Given the description of an element on the screen output the (x, y) to click on. 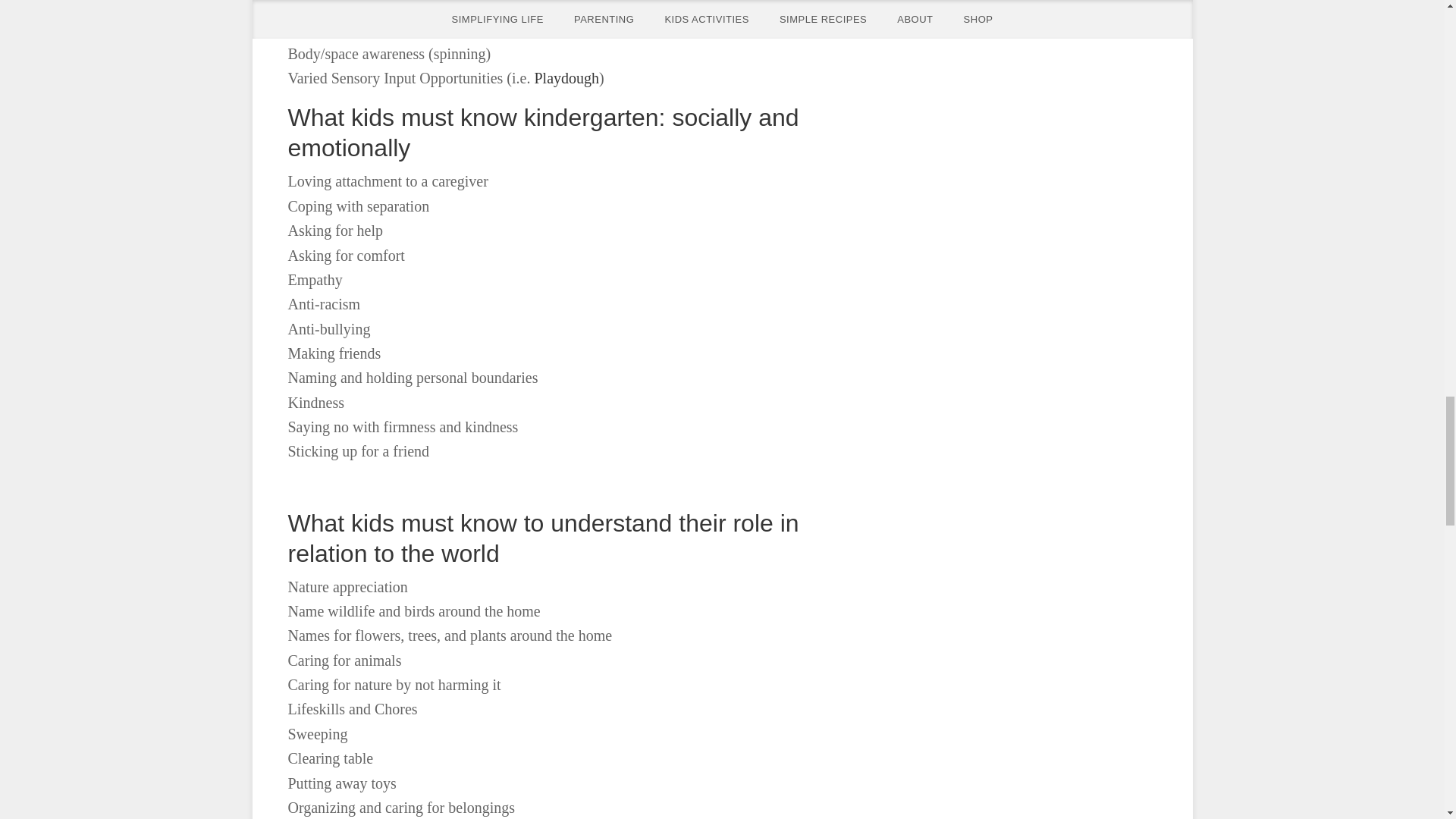
Playdough (566, 77)
